Given the description of an element on the screen output the (x, y) to click on. 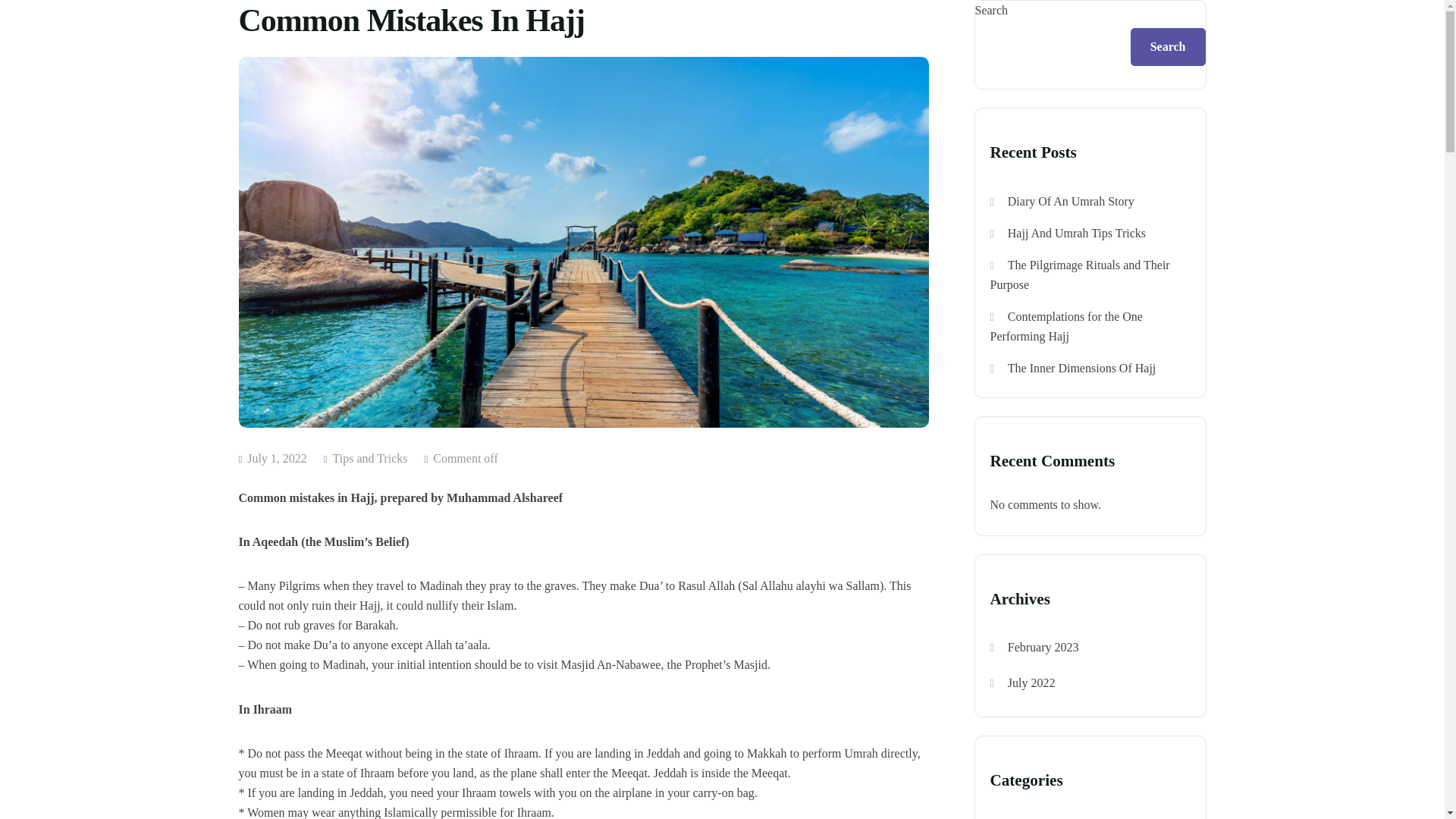
The Pilgrimage Rituals and Their Purpose (1080, 274)
Hajj And Umrah Tips Tricks (1076, 232)
The Inner Dimensions Of Hajj (1081, 367)
Contemplations for the One Performing Hajj (1066, 326)
Search (1168, 46)
Diary Of An Umrah Story (1070, 201)
Tips and Tricks (370, 458)
July 2022 (1031, 682)
February 2023 (1042, 646)
